Given the description of an element on the screen output the (x, y) to click on. 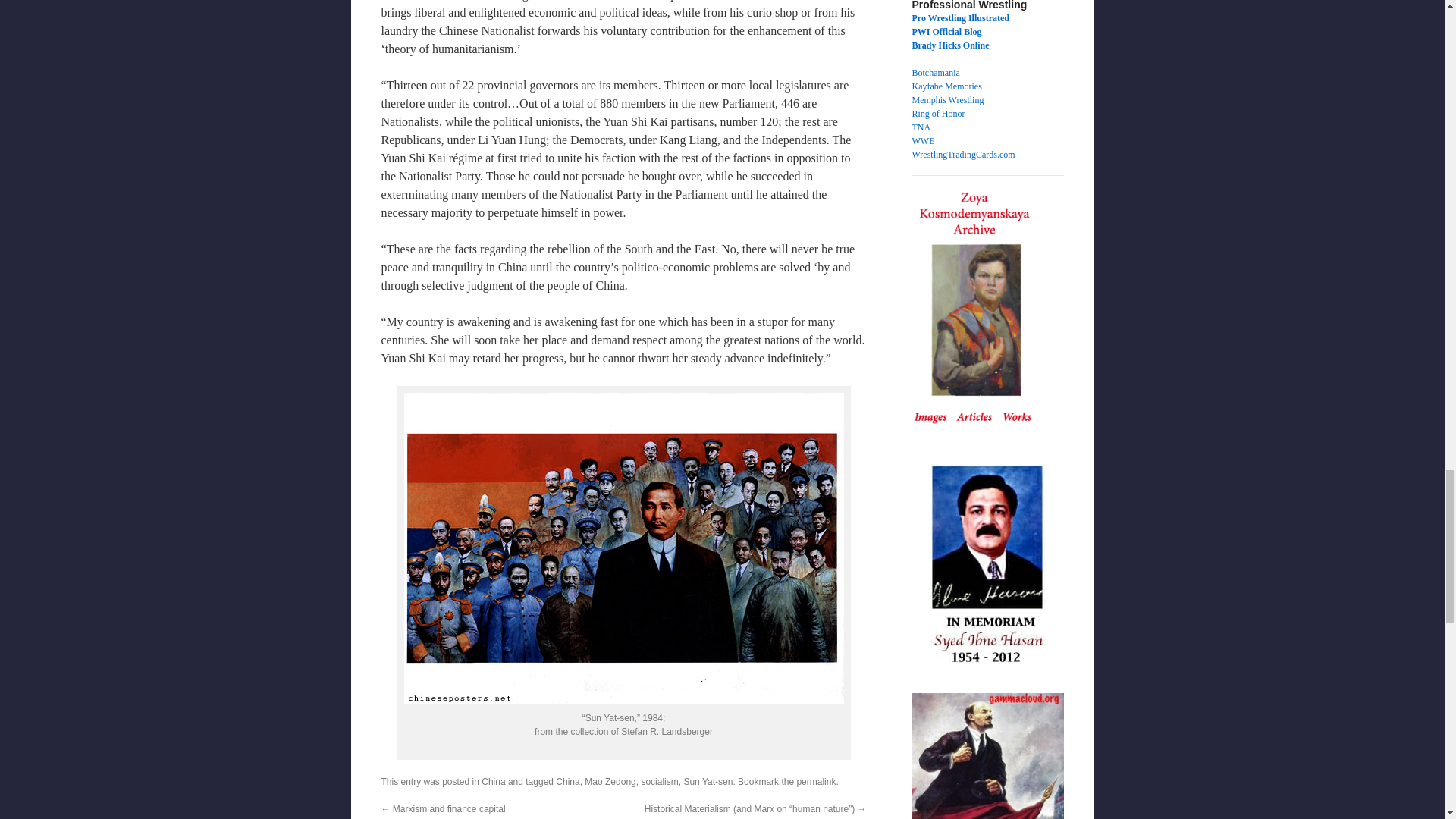
socialism (659, 781)
Mao Zedong (609, 781)
Sun Yat-sen (707, 781)
Permalink to Sun Yat-sen in exile (815, 781)
China (567, 781)
permalink (815, 781)
China (493, 781)
